Given the description of an element on the screen output the (x, y) to click on. 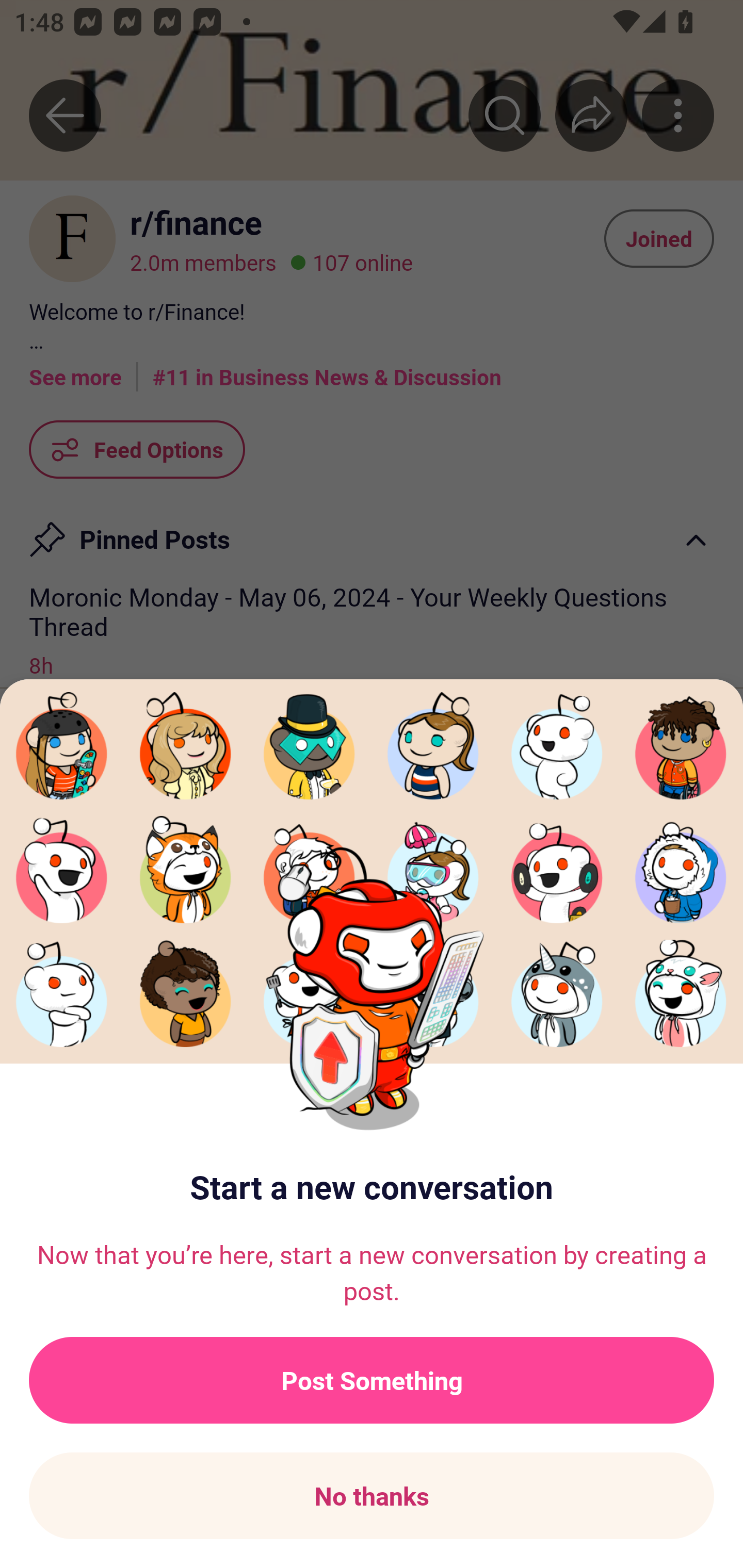
Post Something (371, 1380)
No thanks (371, 1495)
